Given the description of an element on the screen output the (x, y) to click on. 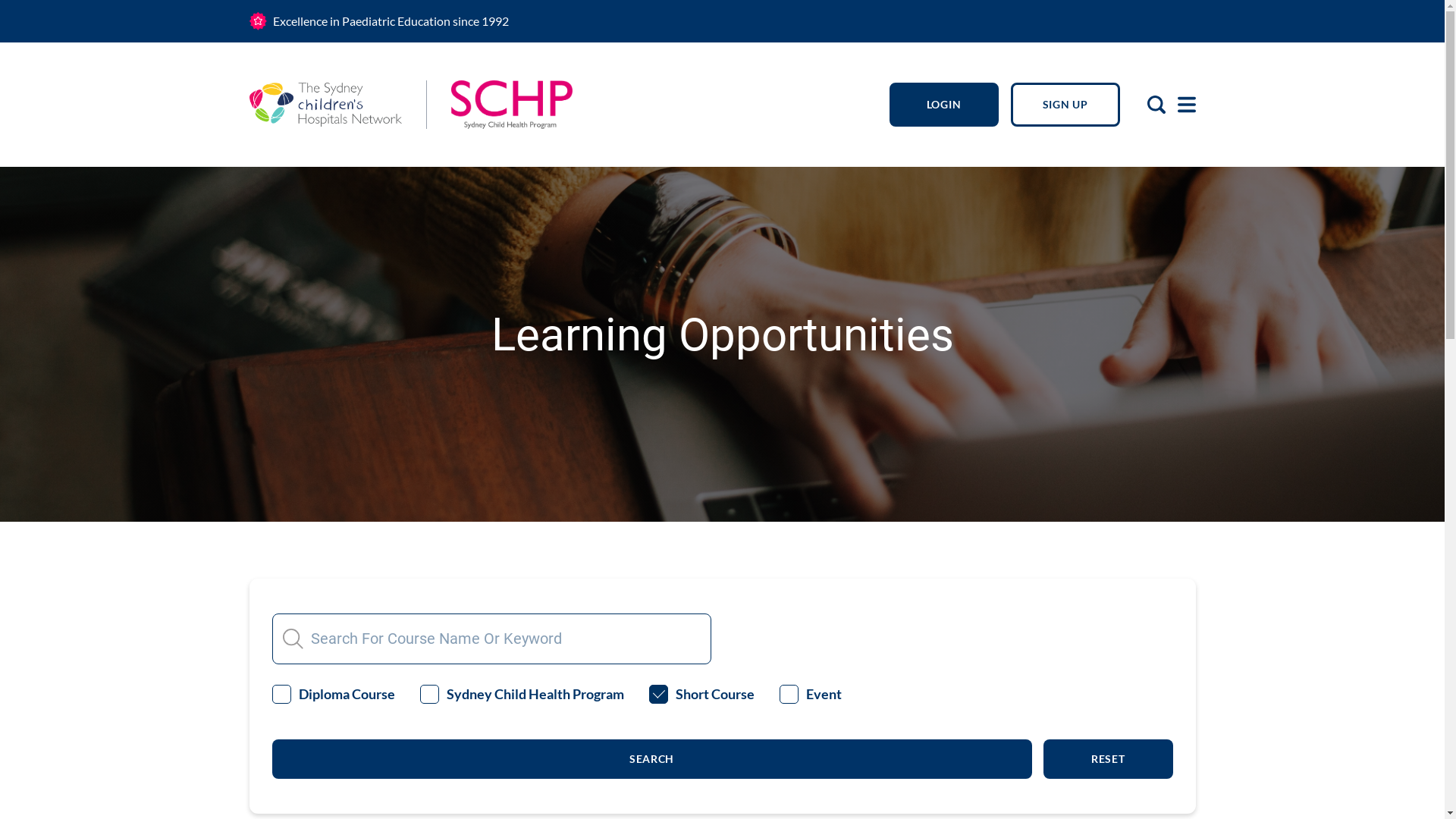
Home Element type: hover (324, 104)
Reset Element type: text (1108, 758)
LOGIN Element type: text (942, 104)
Skip to main content Element type: text (0, 0)
Search Element type: text (651, 758)
SIGN UP Element type: text (1064, 104)
